Given the description of an element on the screen output the (x, y) to click on. 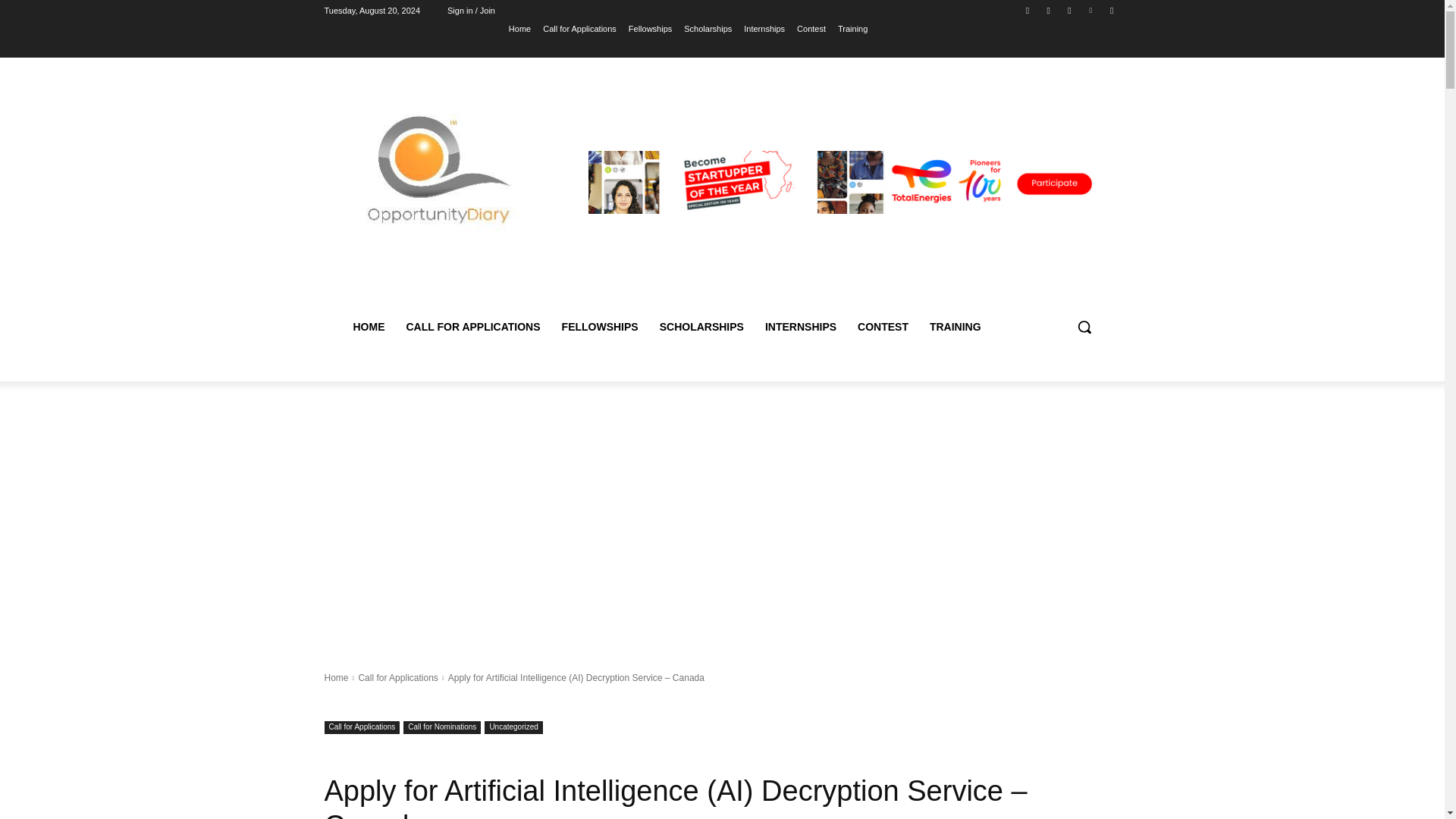
Vimeo (1090, 9)
Training (852, 28)
SCHOLARSHIPS (701, 326)
Fellowships (649, 28)
INTERNSHIPS (800, 326)
Facebook (1027, 9)
Call for Applications (579, 28)
Call for Applications (398, 677)
CONTEST (882, 326)
Internships (764, 28)
